Given the description of an element on the screen output the (x, y) to click on. 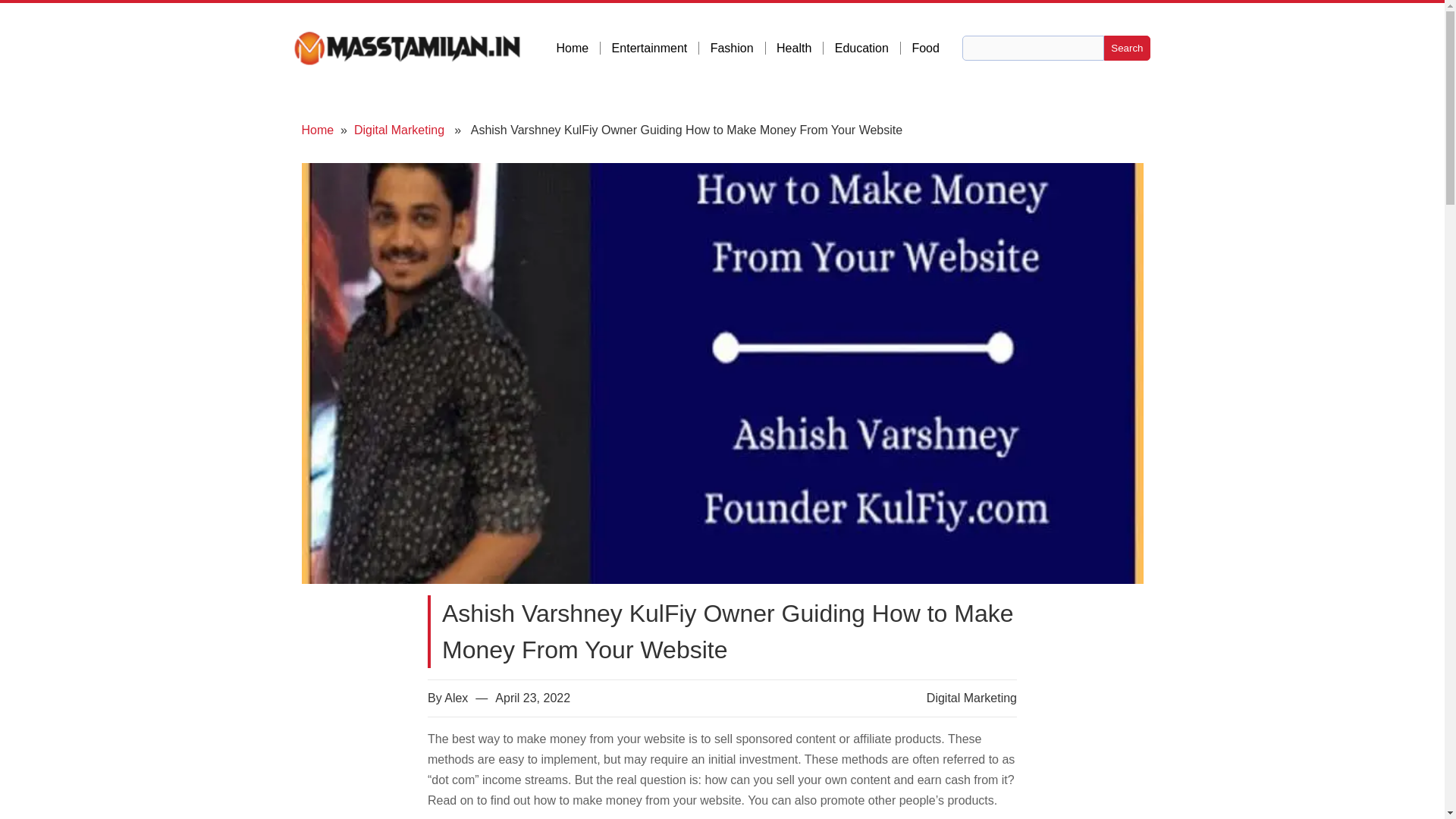
Alex (455, 697)
Health (800, 47)
Entertainment (655, 47)
Education (867, 47)
Search (1126, 48)
Digital Marketing (971, 697)
Food (925, 47)
Search (1126, 48)
Home (317, 129)
Home (577, 47)
Fashion (737, 47)
Posts by Alex (455, 697)
Digital Marketing (398, 129)
